Given the description of an element on the screen output the (x, y) to click on. 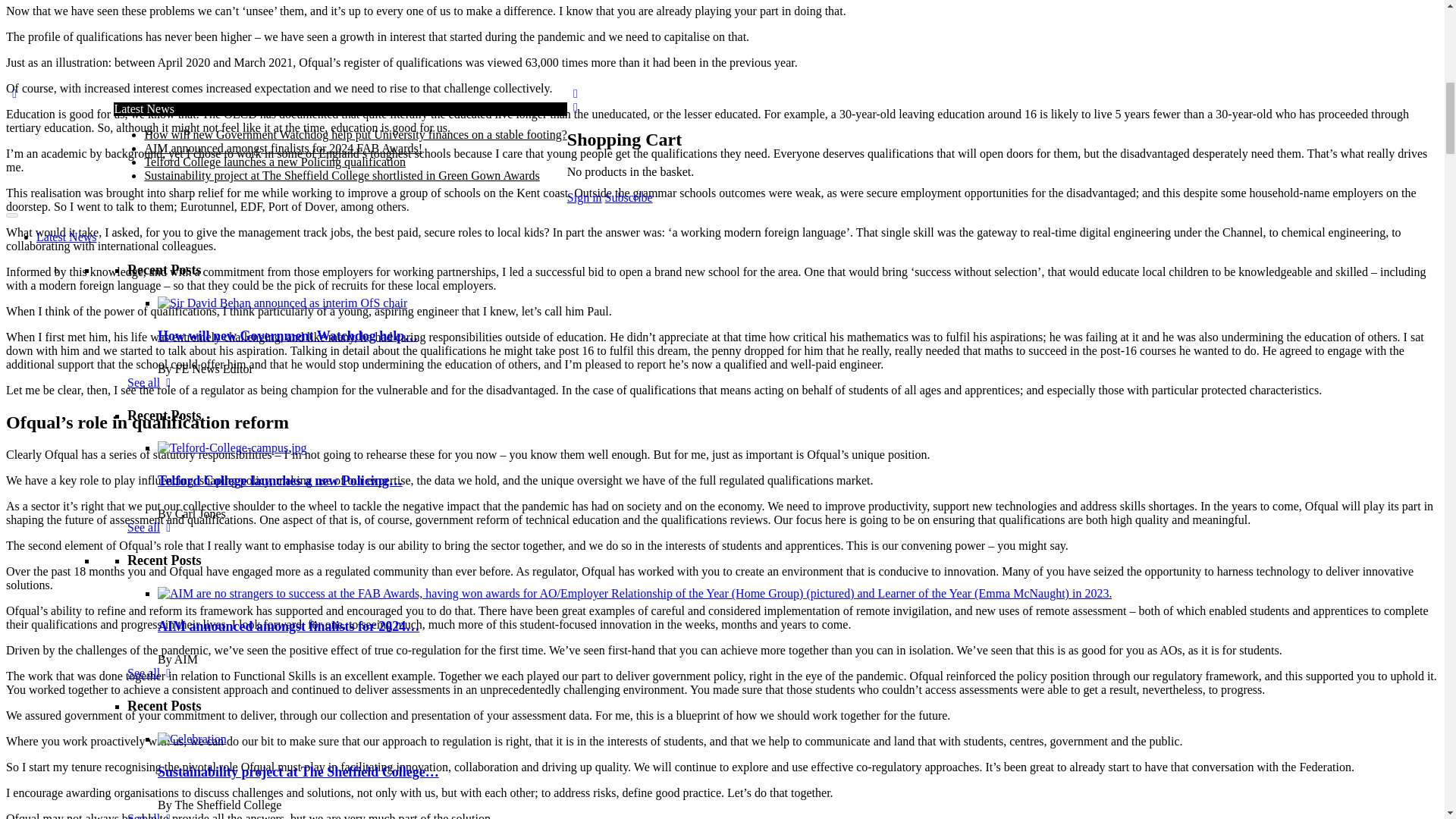
See all (152, 2)
Exclusives (62, 141)
Subscribe (166, 127)
Skills and Apprenticeships - News and Insights (242, 100)
See all (152, 431)
EdTech - News on Education Technology (228, 59)
Sign in (240, 127)
Work and leadership (177, 86)
See all (152, 286)
